Given the description of an element on the screen output the (x, y) to click on. 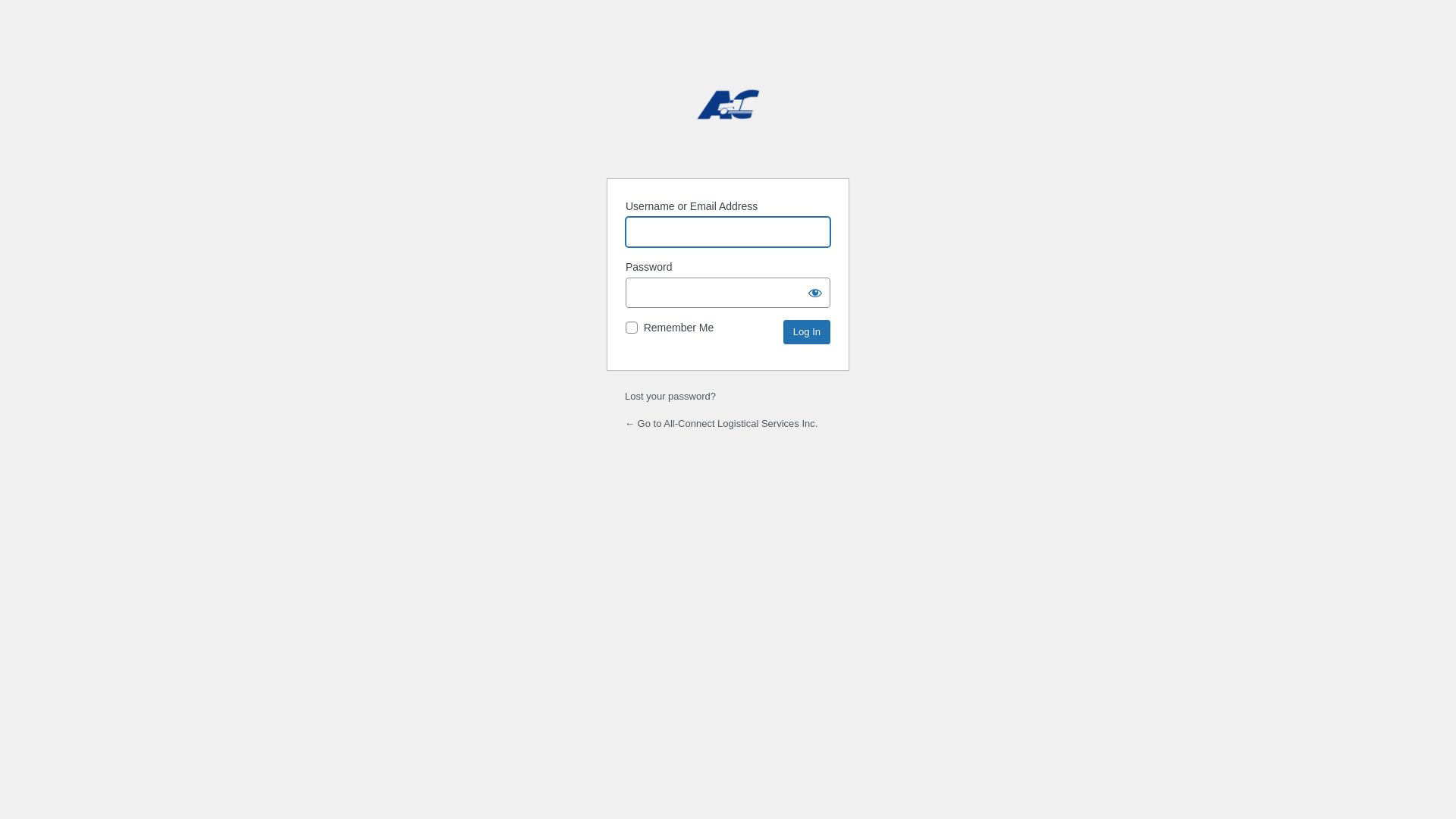
Lost your password? Element type: text (669, 395)
Powered by WordPress Element type: text (727, 115)
Log In Element type: text (806, 332)
